Given the description of an element on the screen output the (x, y) to click on. 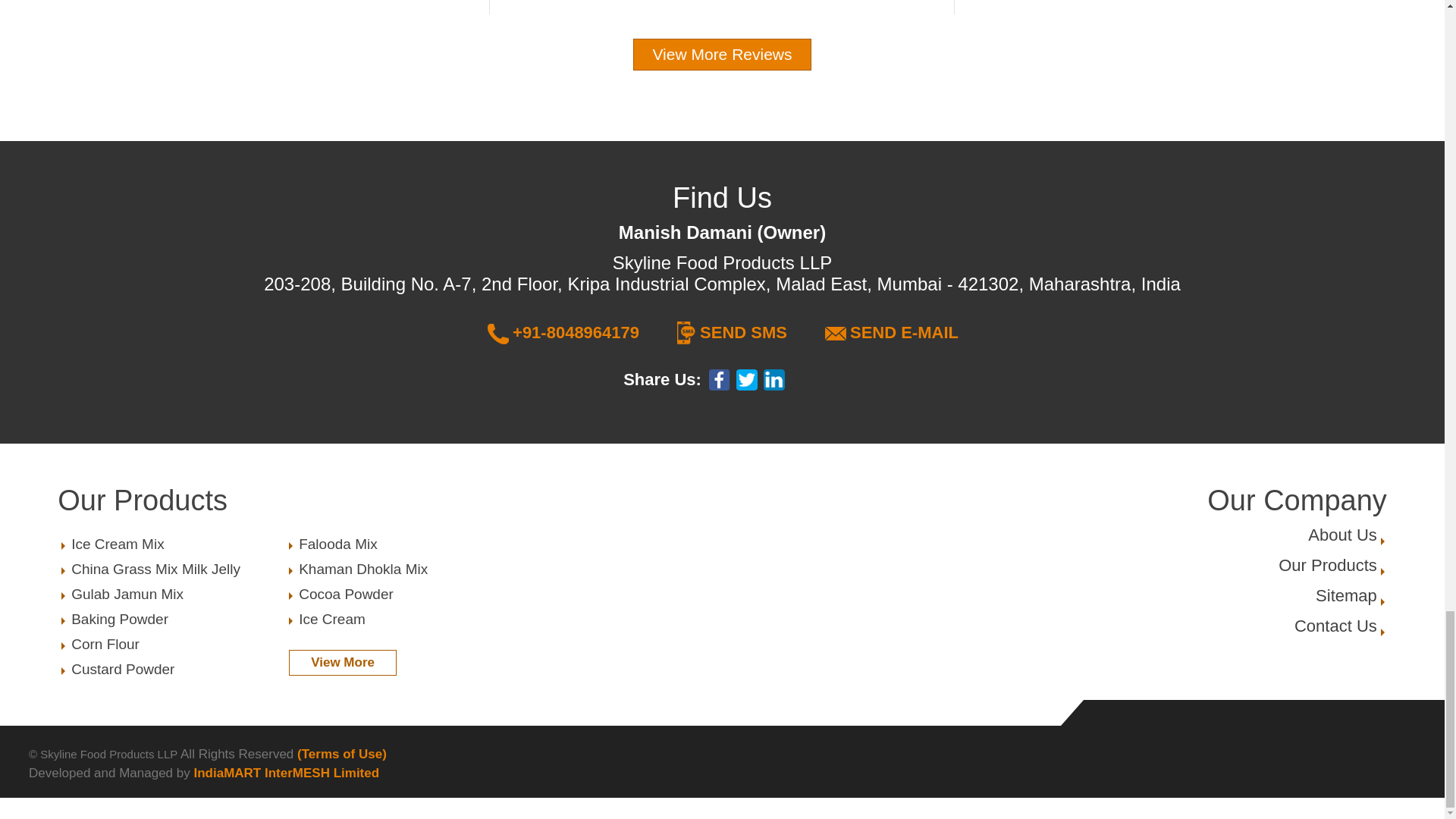
China Grass Mix Milk Jelly (172, 569)
Gulab Jamun Mix (172, 594)
View More (342, 662)
Ice Cream (1346, 595)
View More Reviews (399, 619)
Cocoa Powder (721, 54)
Ice Cream Mix (399, 594)
Corn Flour (172, 544)
